Given the description of an element on the screen output the (x, y) to click on. 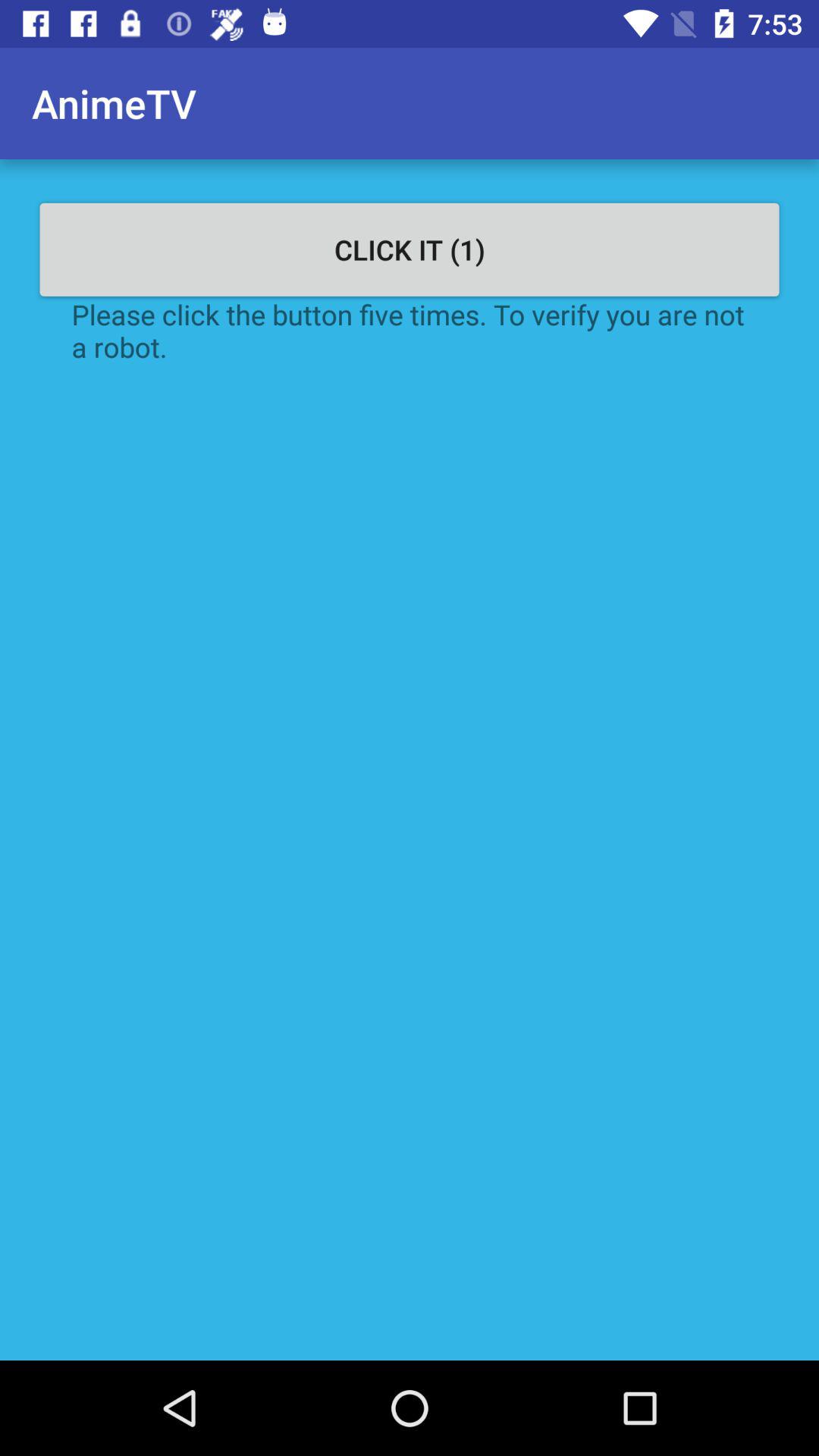
select icon below the animetv (409, 249)
